Given the description of an element on the screen output the (x, y) to click on. 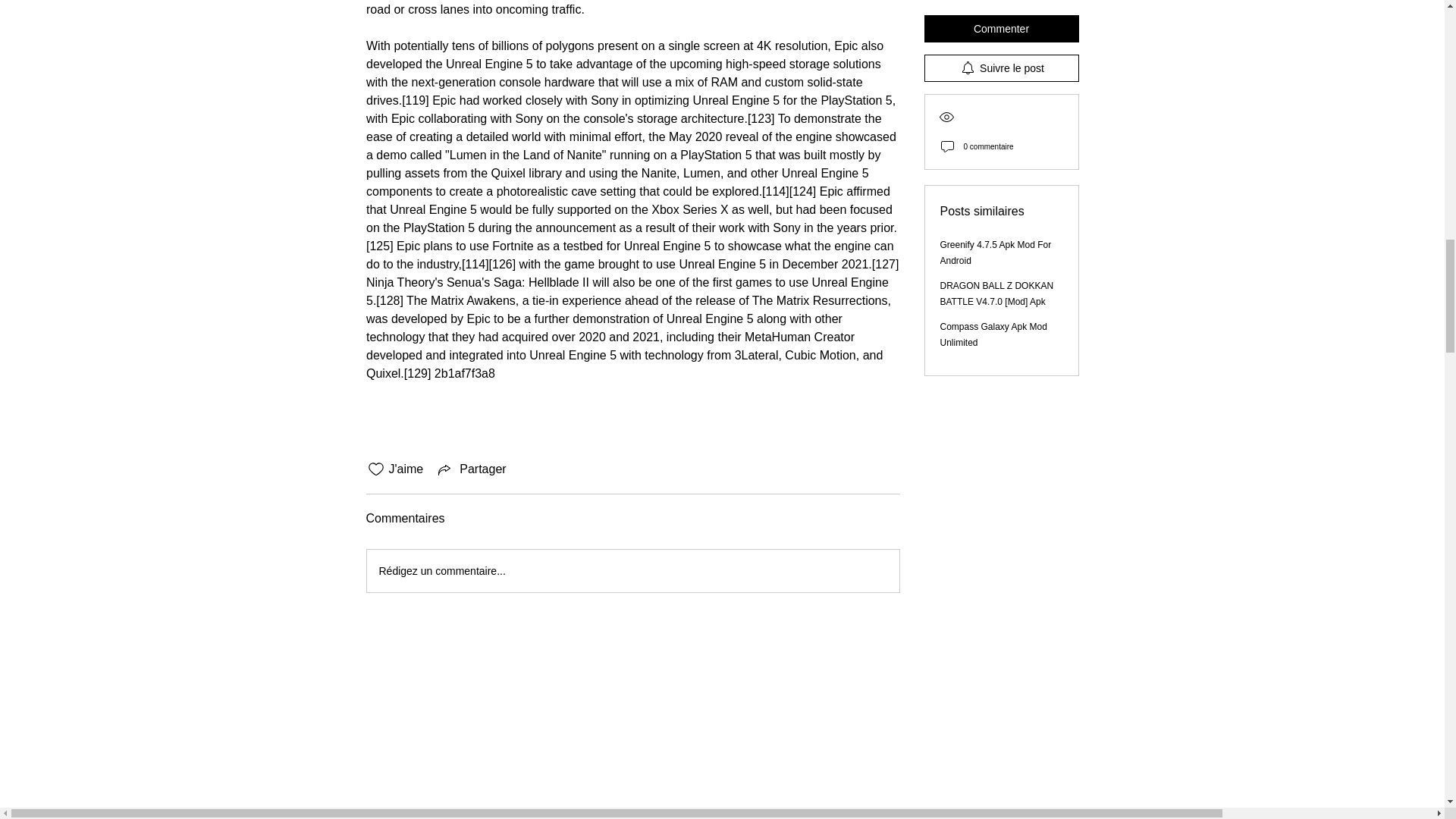
Compass Galaxy Apk Mod Unlimited (993, 4)
Partager (470, 469)
